Given the description of an element on the screen output the (x, y) to click on. 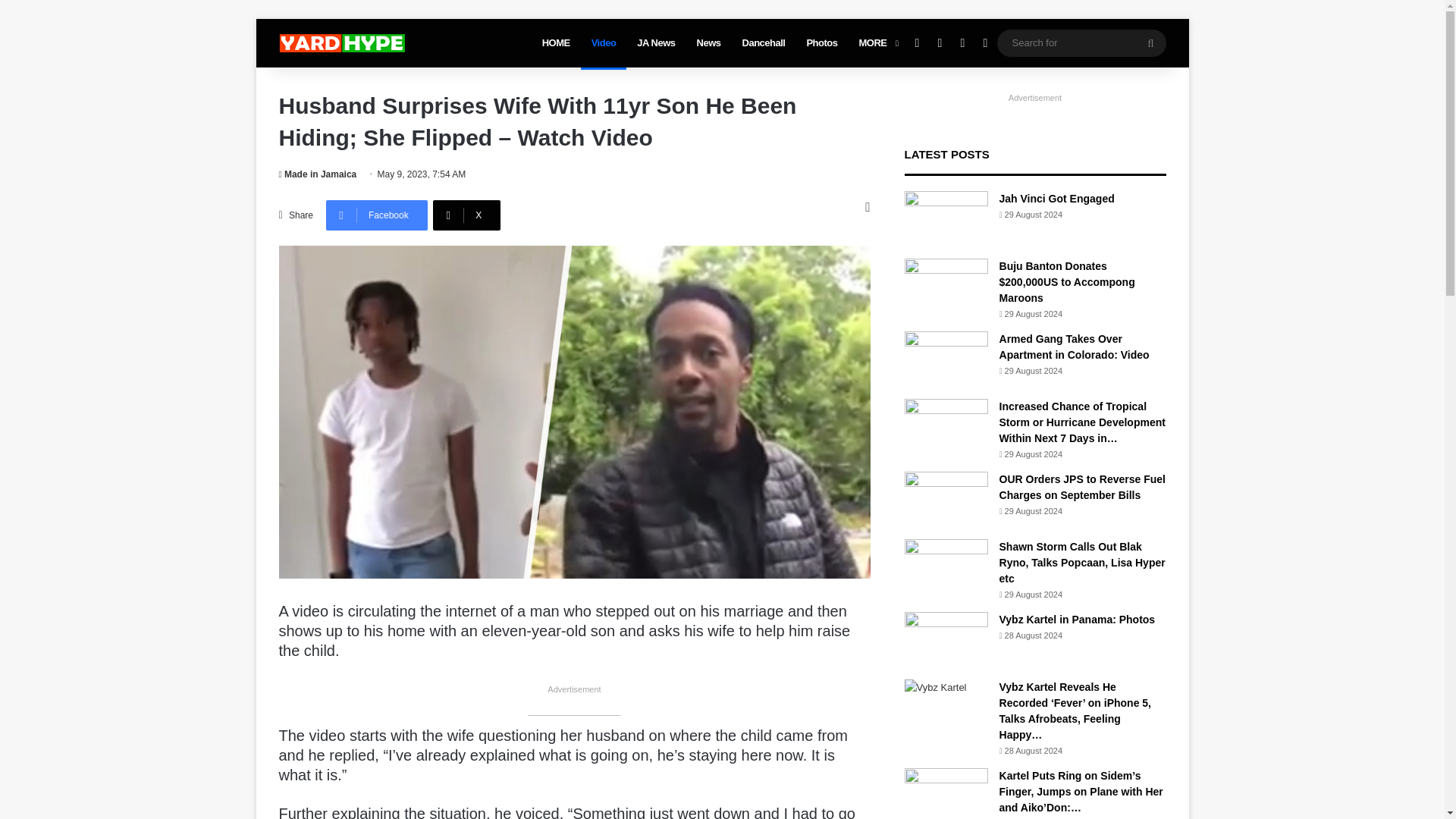
Video (603, 42)
Search for (1080, 42)
HOME (555, 42)
Search for (1150, 42)
Made in Jamaica (317, 173)
JA News (655, 42)
Photos (820, 42)
Facebook (377, 214)
X (466, 214)
X (466, 214)
